Given the description of an element on the screen output the (x, y) to click on. 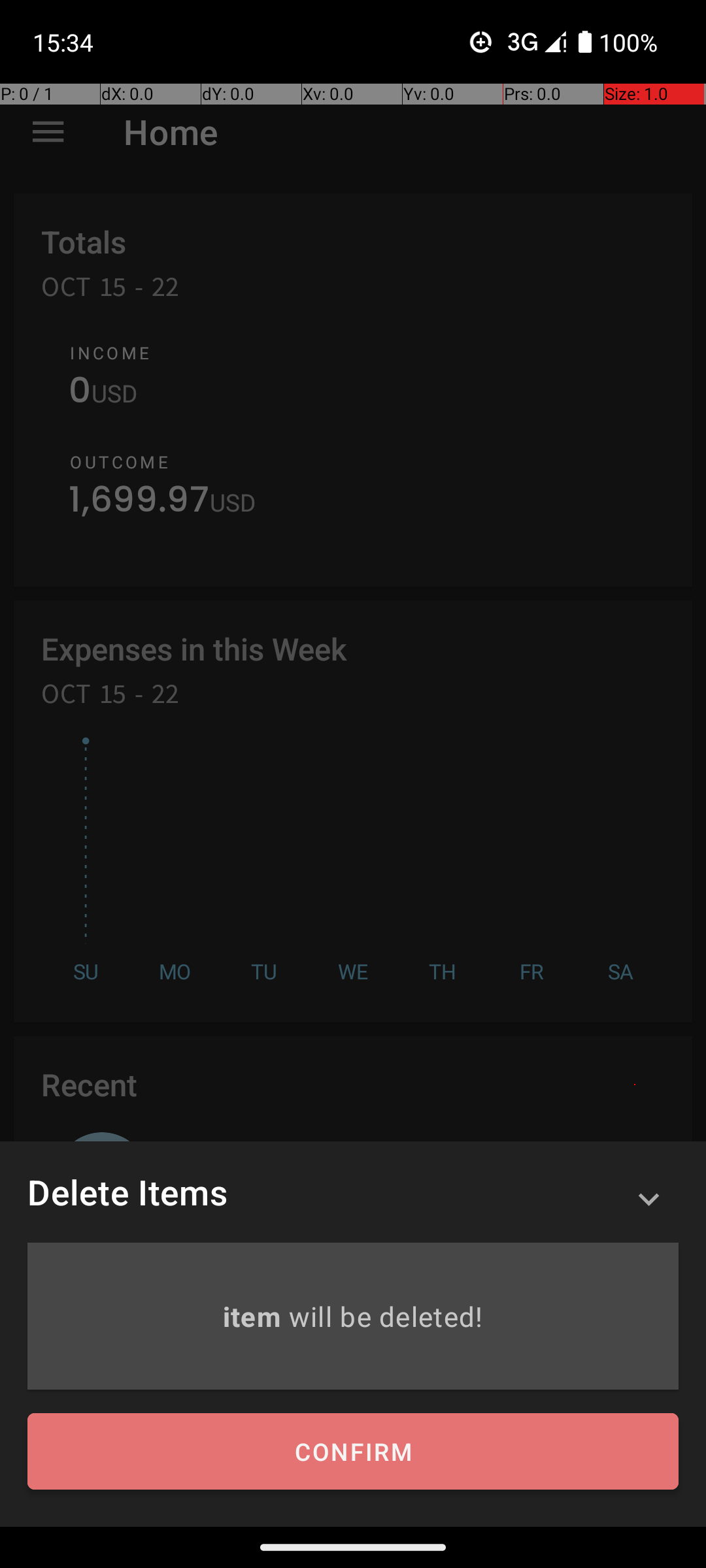
Delete Items Element type: android.widget.TextView (127, 1191)
item  Element type: android.widget.TextView (255, 1315)
will be deleted! Element type: android.widget.TextView (385, 1315)
CONFIRM Element type: android.widget.Button (352, 1451)
